Given the description of an element on the screen output the (x, y) to click on. 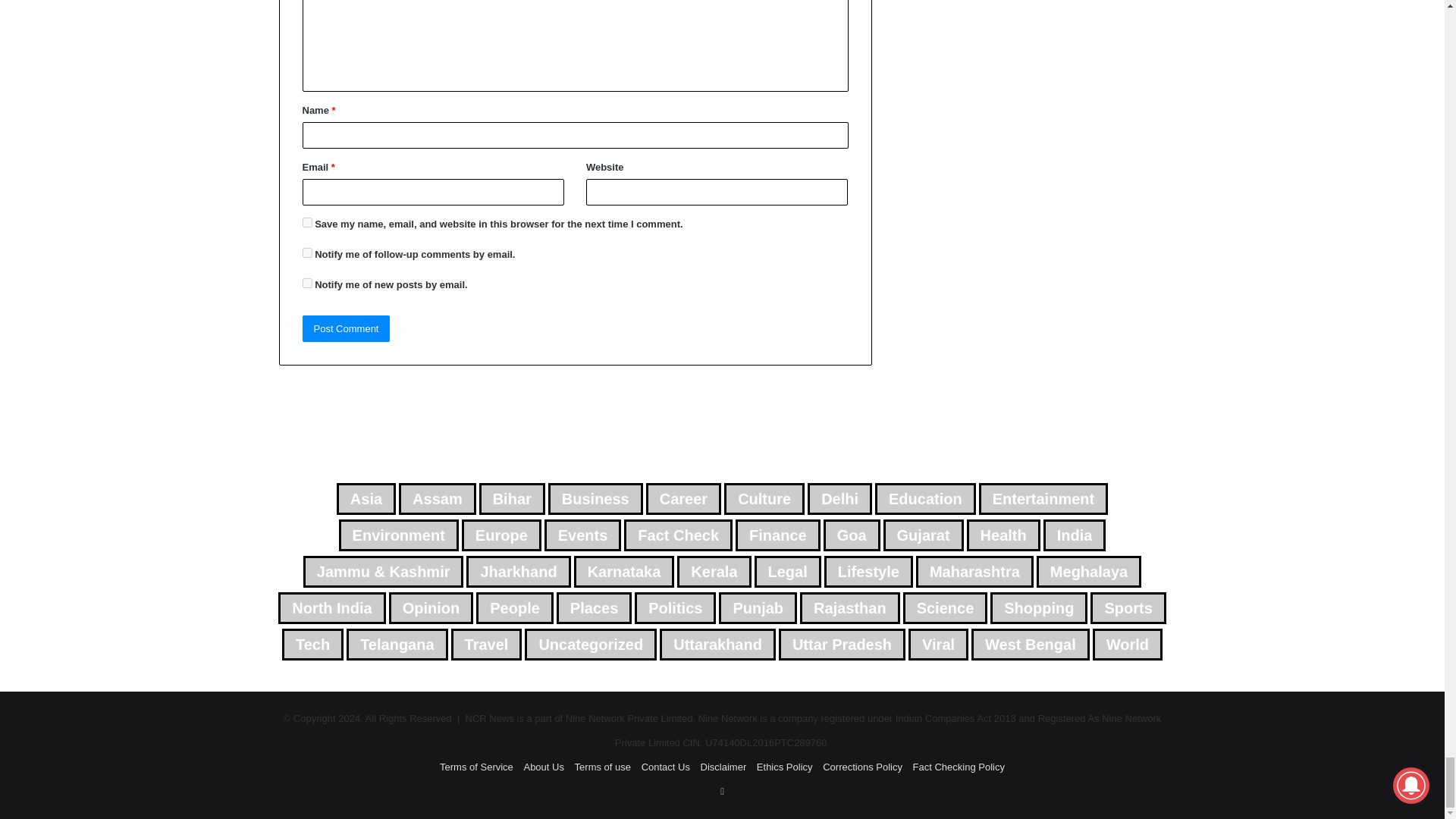
yes (306, 222)
Post Comment (345, 328)
subscribe (306, 283)
subscribe (306, 252)
